Given the description of an element on the screen output the (x, y) to click on. 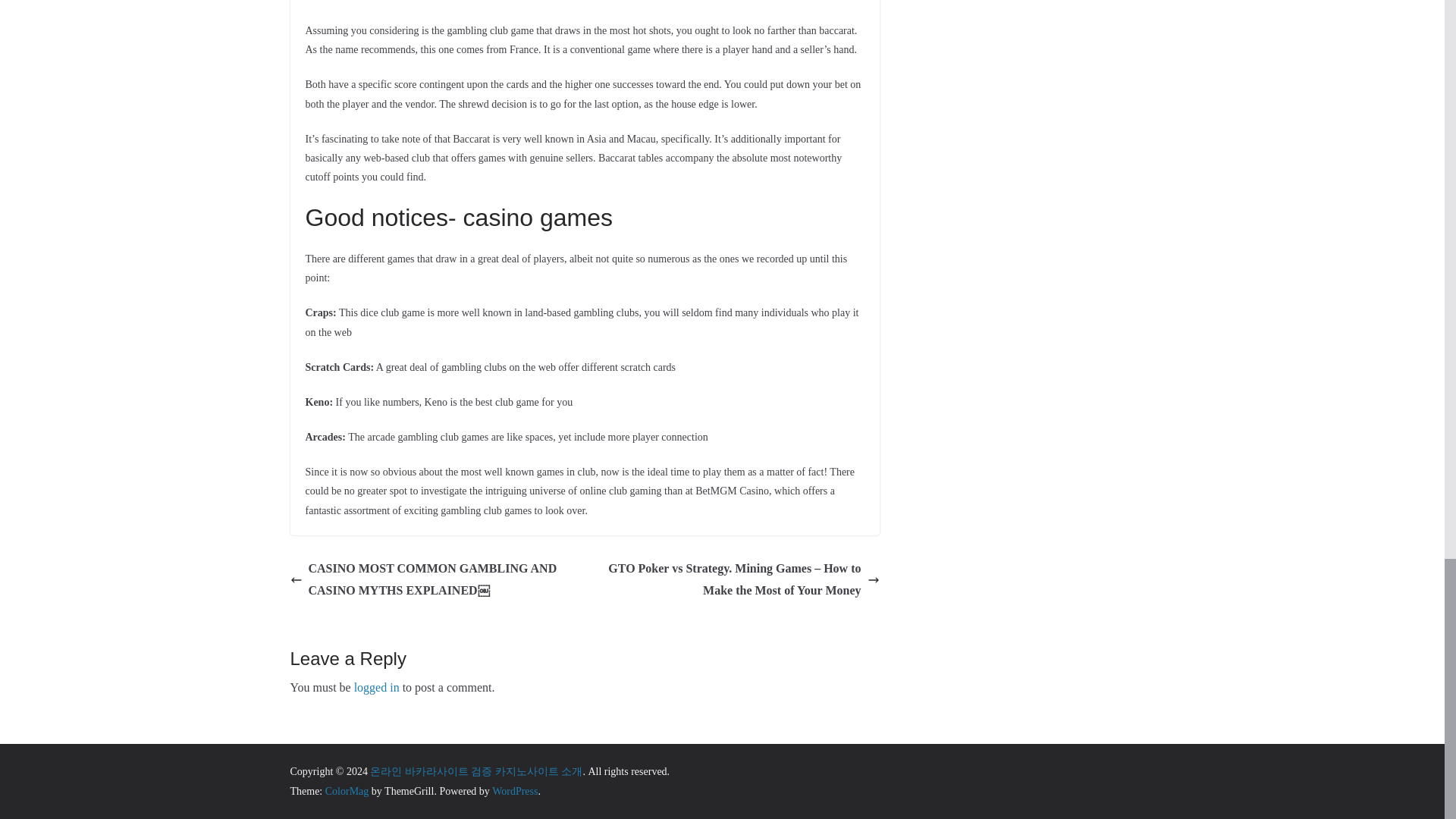
ColorMag (346, 790)
WordPress (514, 790)
logged in (375, 686)
ColorMag (346, 790)
WordPress (514, 790)
